Given the description of an element on the screen output the (x, y) to click on. 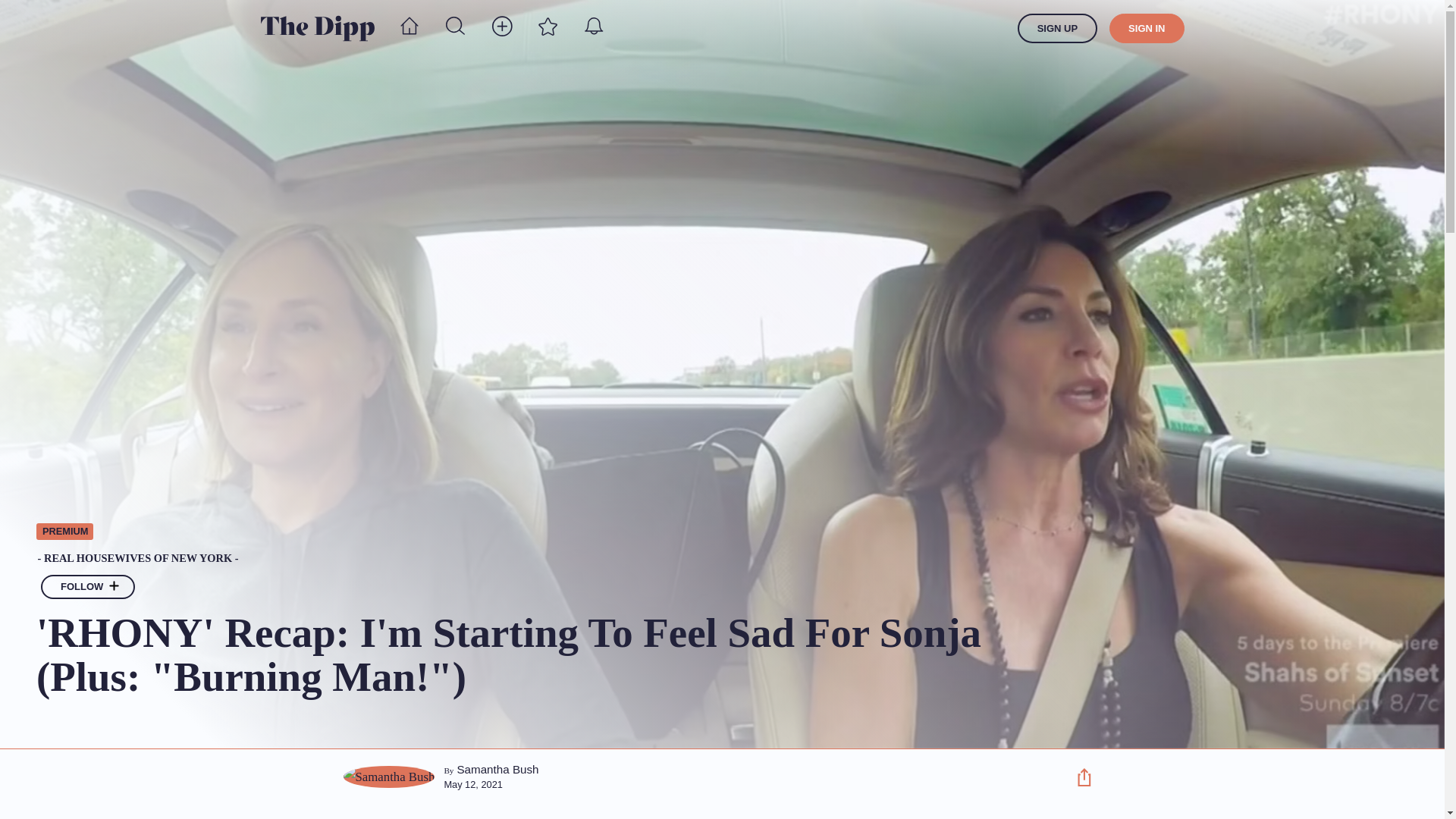
SIGN IN (1146, 28)
- REAL HOUSEWIVES OF NEW YORK - (542, 559)
FOLLOW (87, 586)
SIGN UP (1057, 28)
Dipp (317, 28)
Samantha Bush (497, 768)
